Given the description of an element on the screen output the (x, y) to click on. 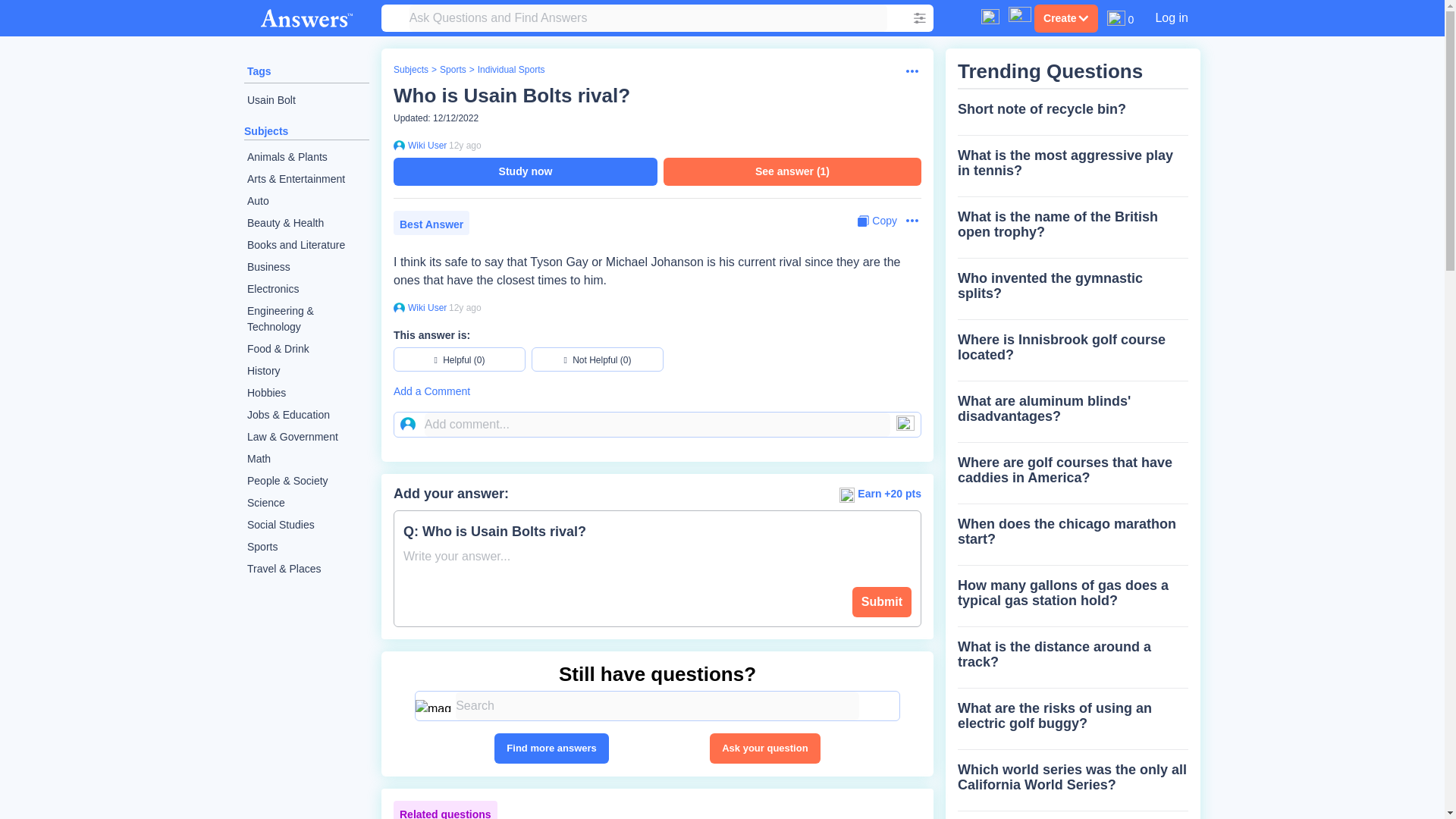
Hobbies (306, 393)
Wiki User (425, 307)
2012-05-01 01:02:17 (464, 307)
Science (306, 503)
Subjects (410, 69)
Auto (306, 201)
Math (306, 458)
2012-05-01 01:02:17 (464, 145)
Subjects (266, 131)
Business (306, 267)
